Given the description of an element on the screen output the (x, y) to click on. 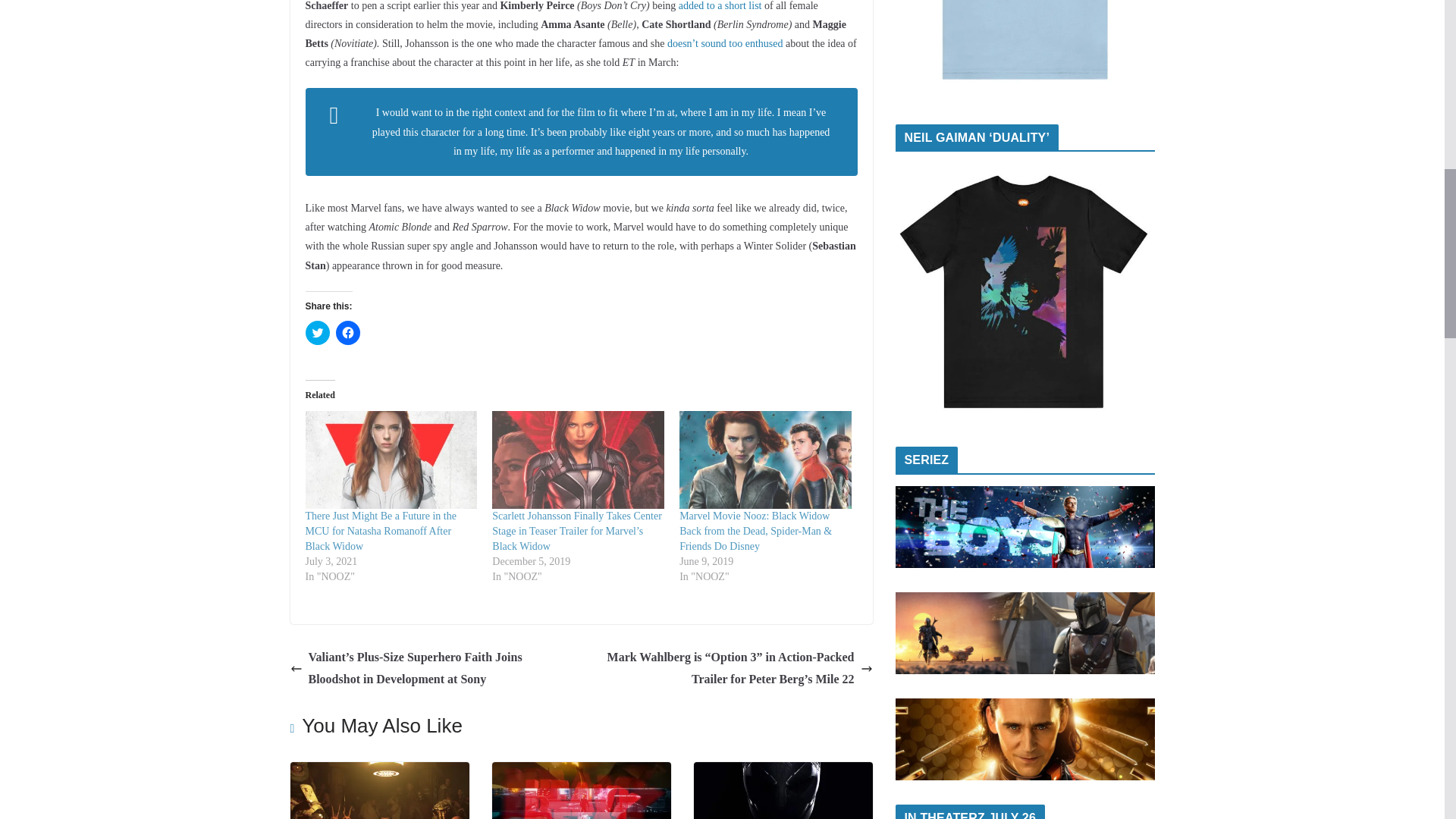
Click to share on Twitter (316, 332)
Click to share on Facebook (346, 332)
a short list (739, 5)
added to (696, 5)
